Given the description of an element on the screen output the (x, y) to click on. 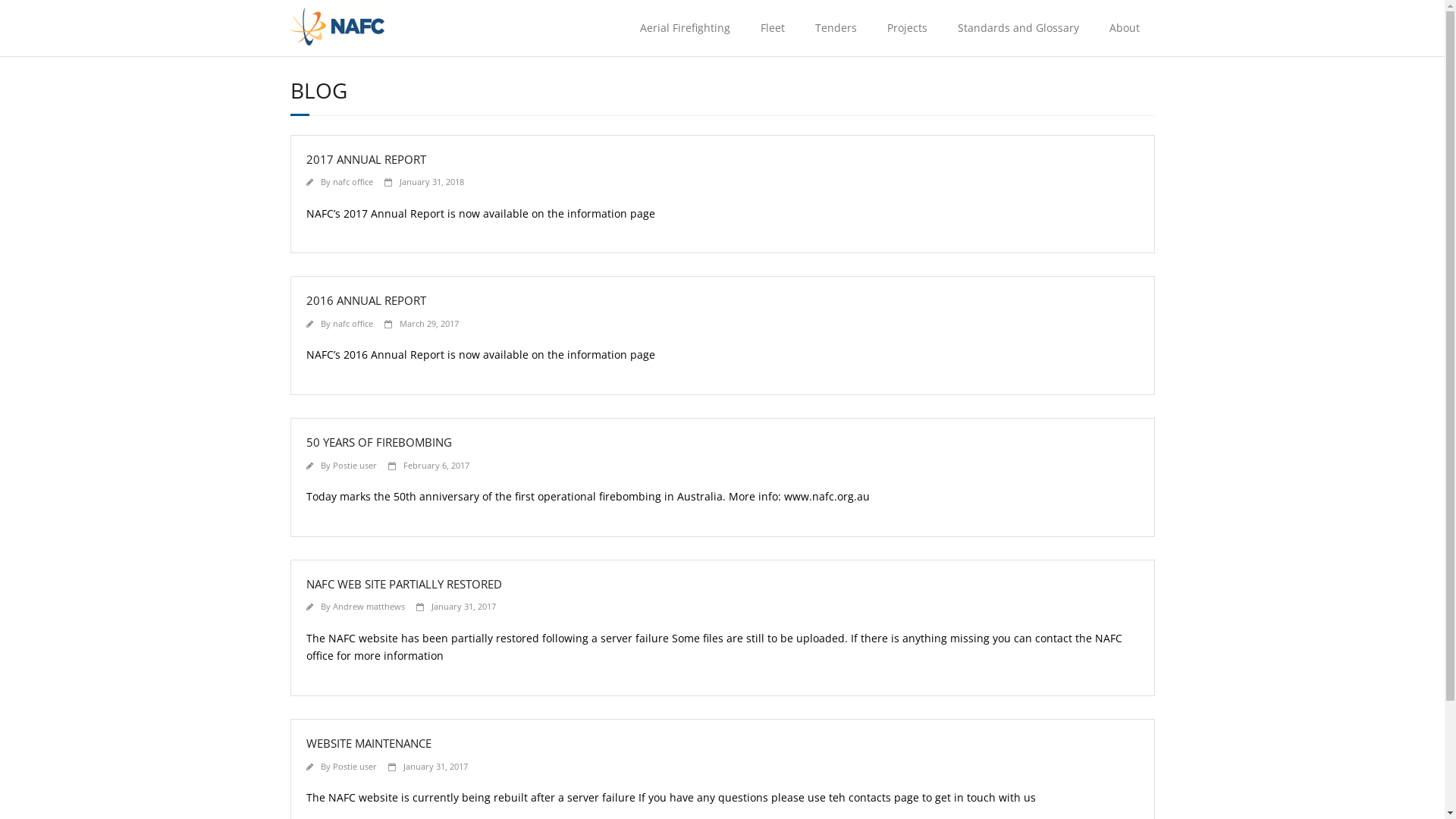
Andrew matthews Element type: text (368, 605)
About Element type: text (1123, 28)
January 31, 2018 Element type: text (430, 181)
nafc office Element type: text (352, 323)
Fleet Element type: text (771, 28)
NAFC WEB SITE PARTIALLY RESTORED Element type: text (404, 583)
WEBSITE MAINTENANCE Element type: text (368, 742)
Postie user Element type: text (354, 464)
March 29, 2017 Element type: text (428, 323)
January 31, 2017 Element type: text (435, 765)
Projects Element type: text (907, 28)
February 6, 2017 Element type: text (436, 464)
Tenders Element type: text (835, 28)
Standards and Glossary Element type: text (1017, 28)
nafc office Element type: text (352, 181)
2016 ANNUAL REPORT Element type: text (366, 299)
Aerial Firefighting Element type: text (684, 28)
January 31, 2017 Element type: text (462, 605)
Postie user Element type: text (354, 765)
2017 ANNUAL REPORT Element type: text (366, 158)
50 YEARS OF FIREBOMBING Element type: text (378, 441)
